Given the description of an element on the screen output the (x, y) to click on. 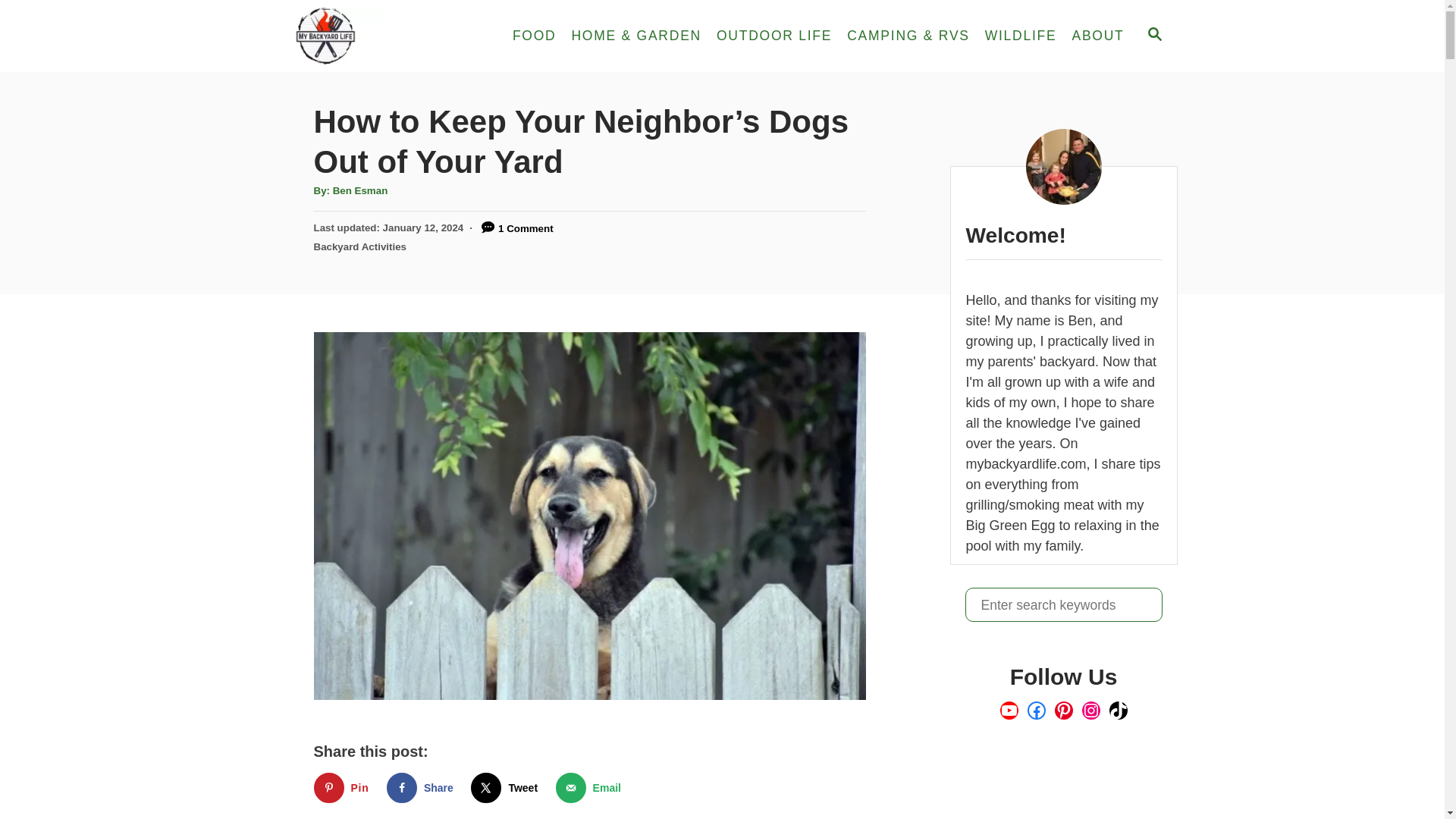
ABOUT (1097, 36)
Share on Facebook (423, 788)
Save to Pinterest (344, 788)
Send over email (591, 788)
FOOD (534, 36)
My Backyard Life (382, 36)
Share on X (507, 788)
SEARCH (1153, 35)
WILDLIFE (1020, 36)
Tweet (507, 788)
